Given the description of an element on the screen output the (x, y) to click on. 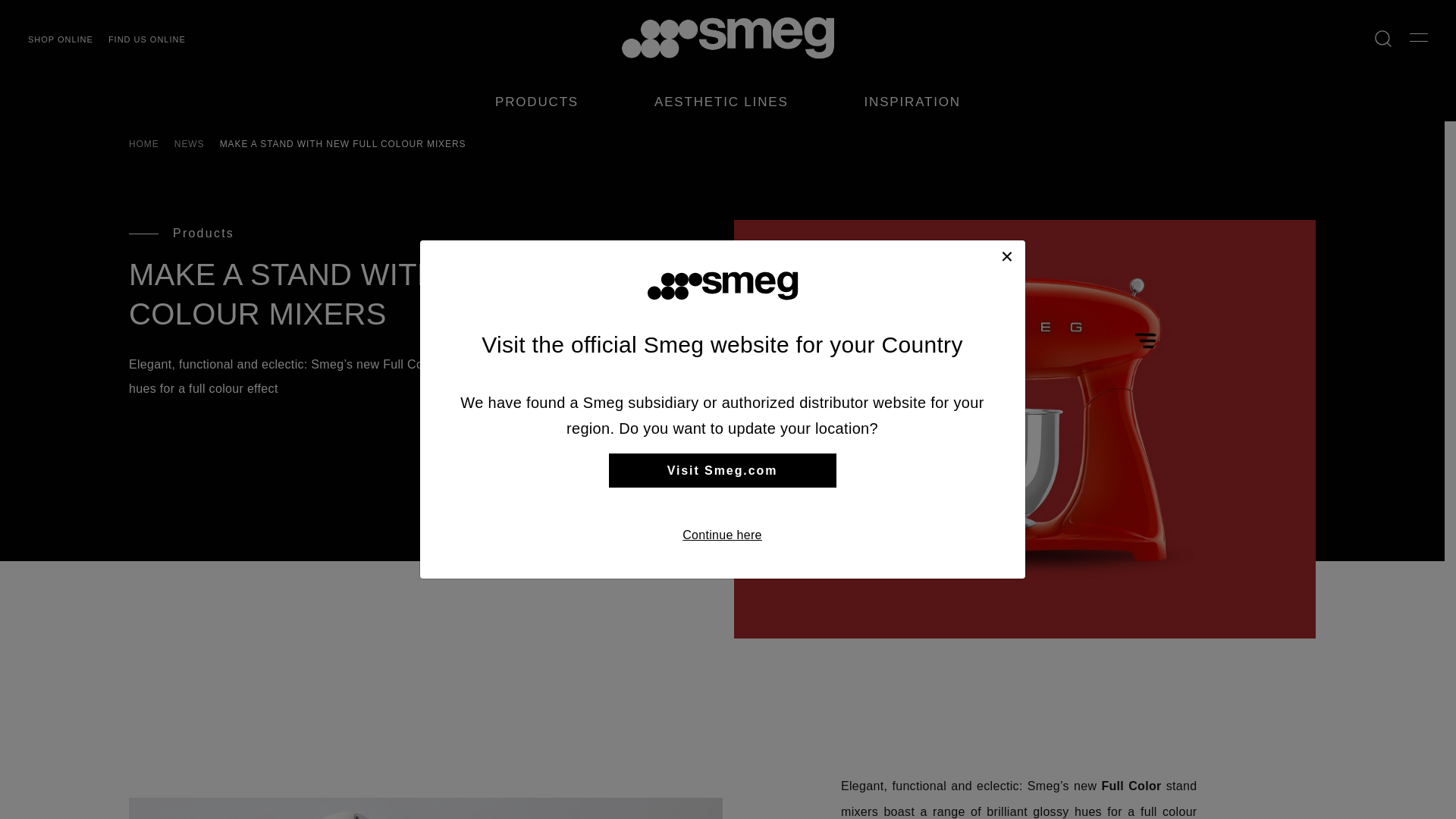
SHOP ONLINE (60, 38)
Smeg logo (727, 38)
Shop Online (60, 38)
Find us online (146, 38)
Continue here (721, 534)
Smeg logo (721, 286)
Visit Smeg.com (721, 470)
FIND US ONLINE (146, 38)
